Given the description of an element on the screen output the (x, y) to click on. 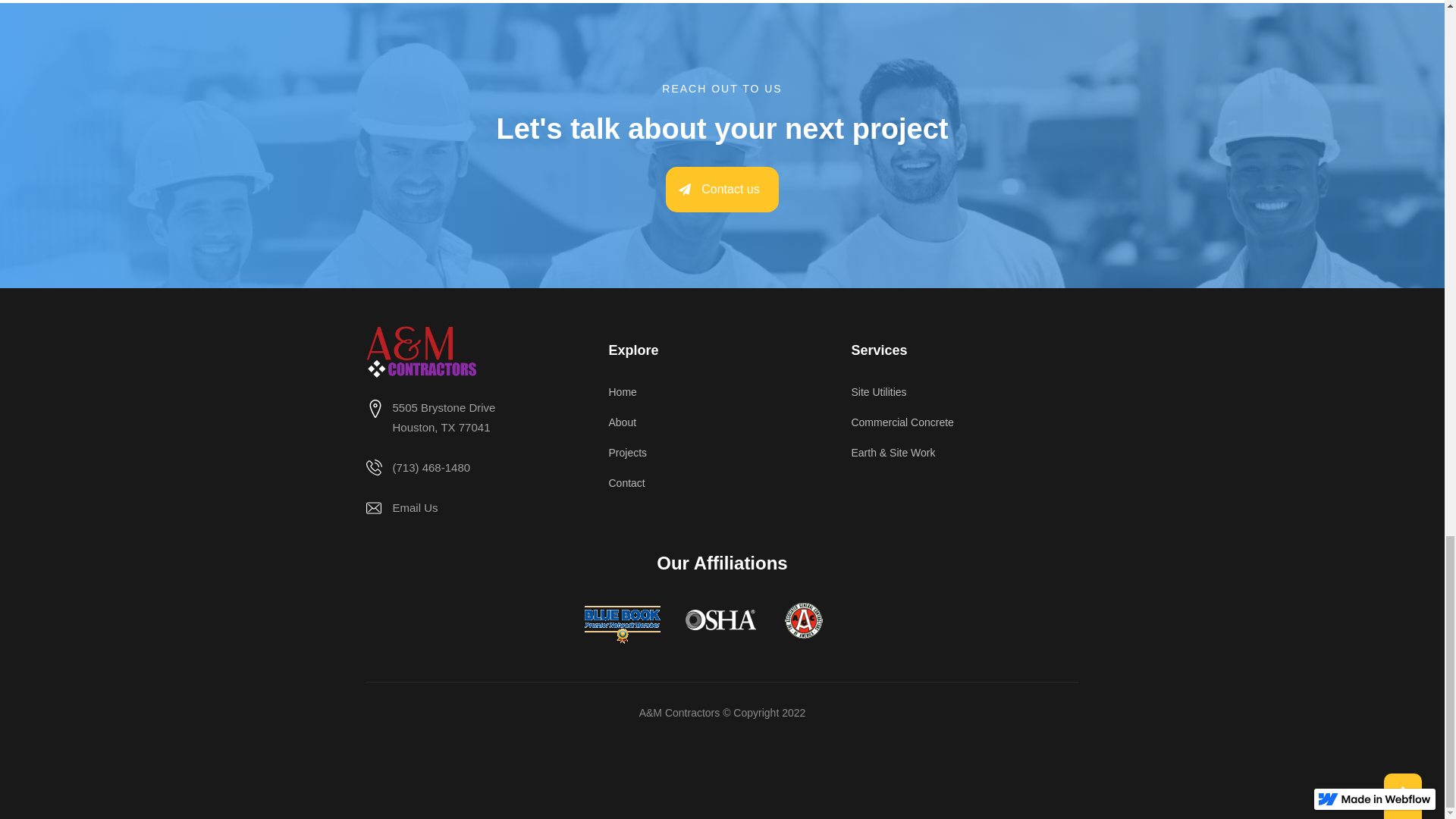
Contact (721, 490)
About (721, 429)
Site Utilities (964, 399)
Email Us (430, 420)
Projects (401, 510)
Home (721, 460)
Contact us (721, 399)
Commercial Concrete (721, 189)
